Given the description of an element on the screen output the (x, y) to click on. 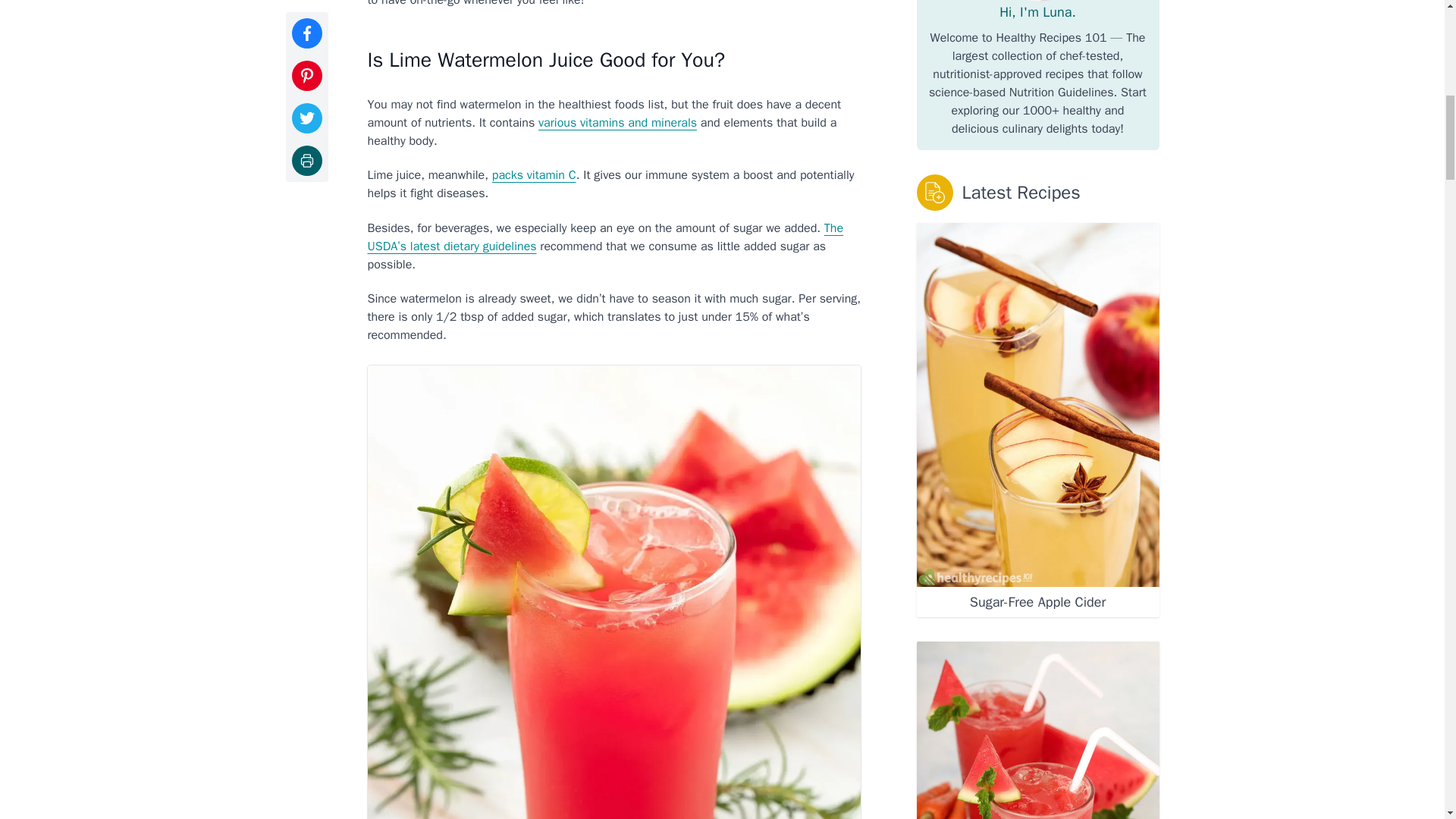
Print Recipe (306, 6)
packs vitamin C (534, 174)
various vitamins and minerals (617, 122)
Sugar-Free Apple Cider (1036, 602)
